Given the description of an element on the screen output the (x, y) to click on. 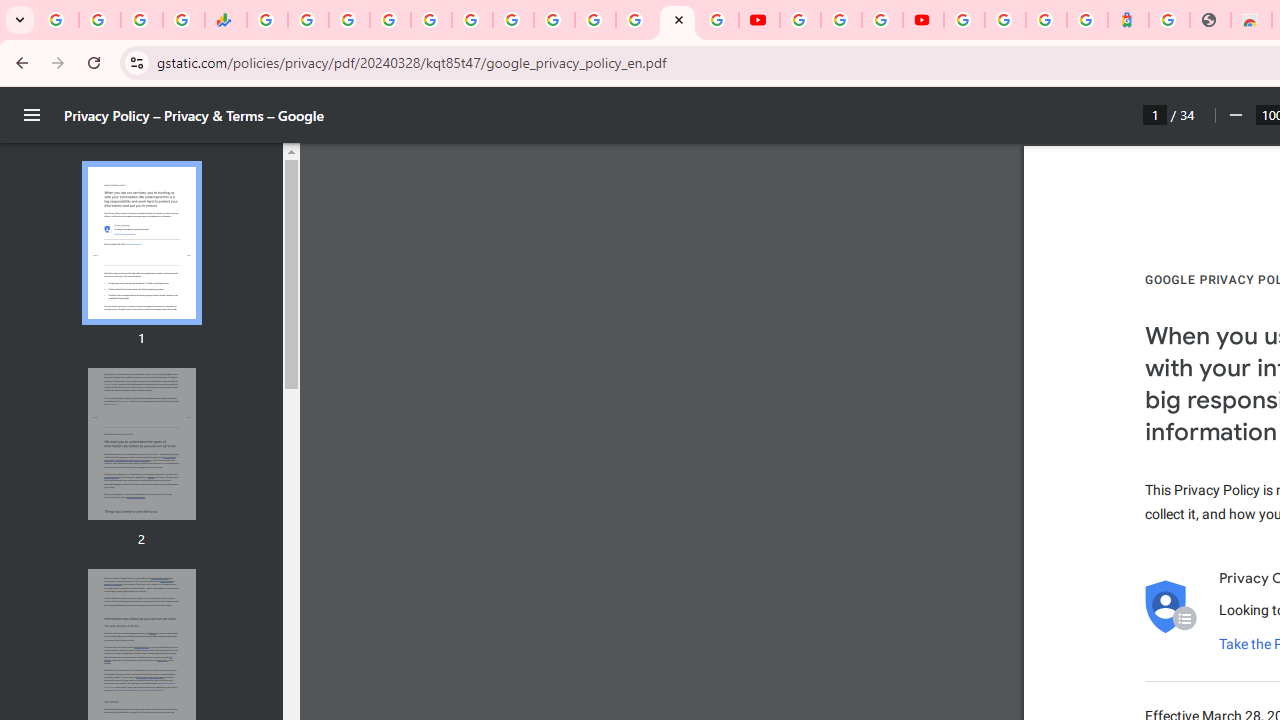
Sign in - Google Accounts (964, 20)
AutomationID: thumbnail (141, 443)
Menu (31, 115)
Sign in - Google Accounts (389, 20)
YouTube (799, 20)
YouTube (553, 20)
Zoom out (1234, 115)
